Given the description of an element on the screen output the (x, y) to click on. 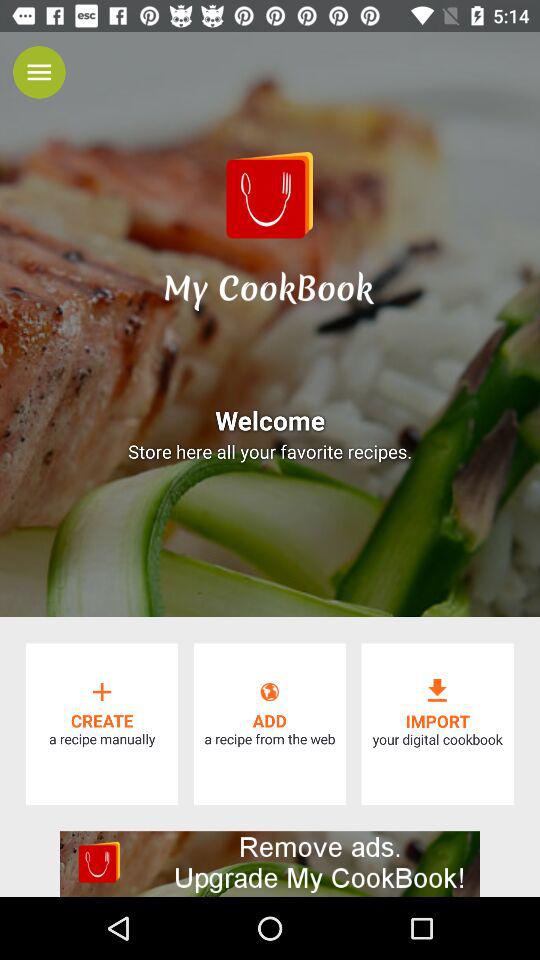
view page links (39, 72)
